Given the description of an element on the screen output the (x, y) to click on. 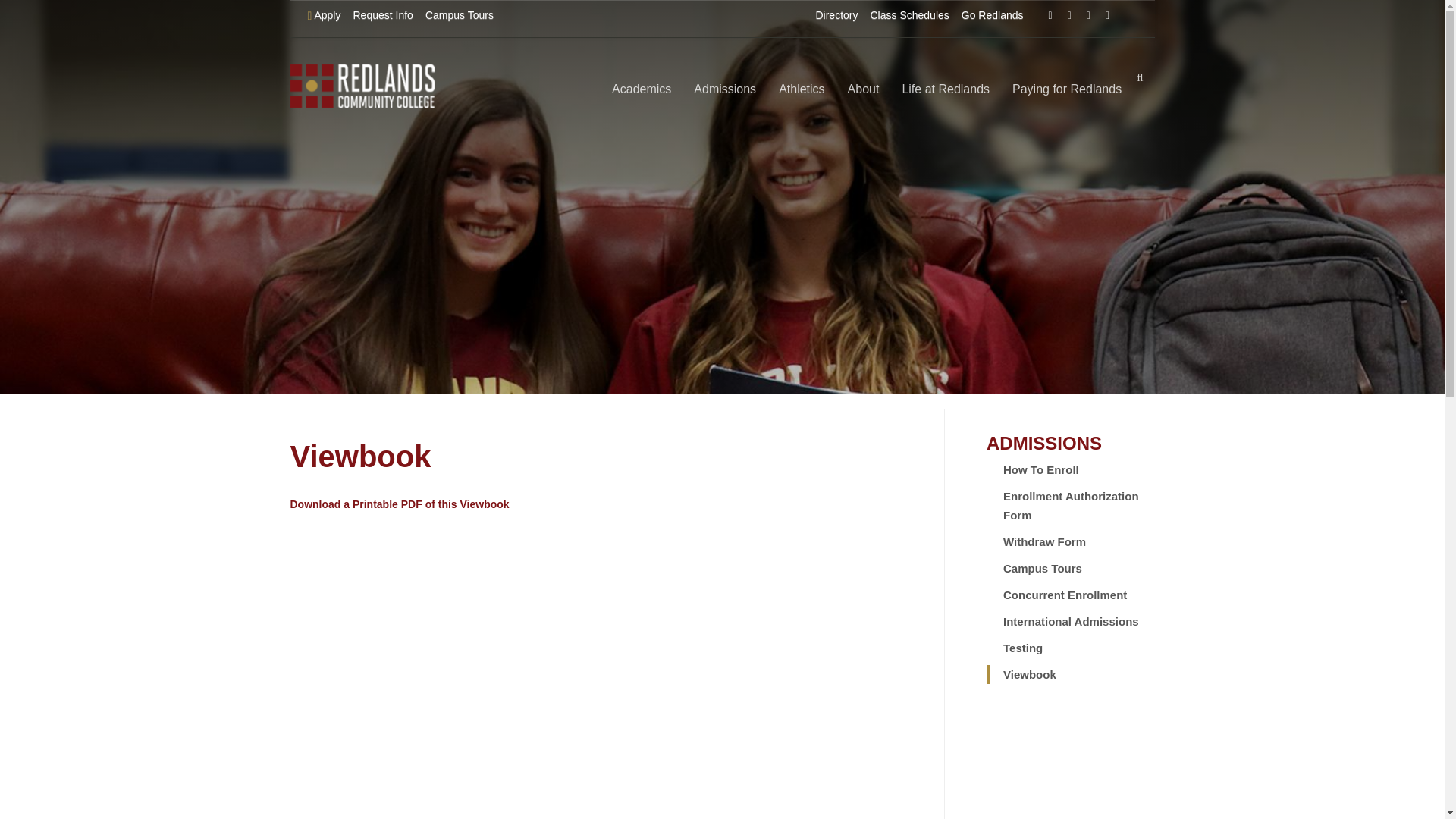
Directory (836, 15)
Admissions (724, 88)
Go Redlands (992, 15)
Apply (324, 15)
Campus Tours (459, 15)
Listing of Redlands Faculty and Staff (836, 15)
Academics (640, 88)
Class Schedules (909, 15)
Request Info (382, 15)
Athletics (801, 88)
